Given the description of an element on the screen output the (x, y) to click on. 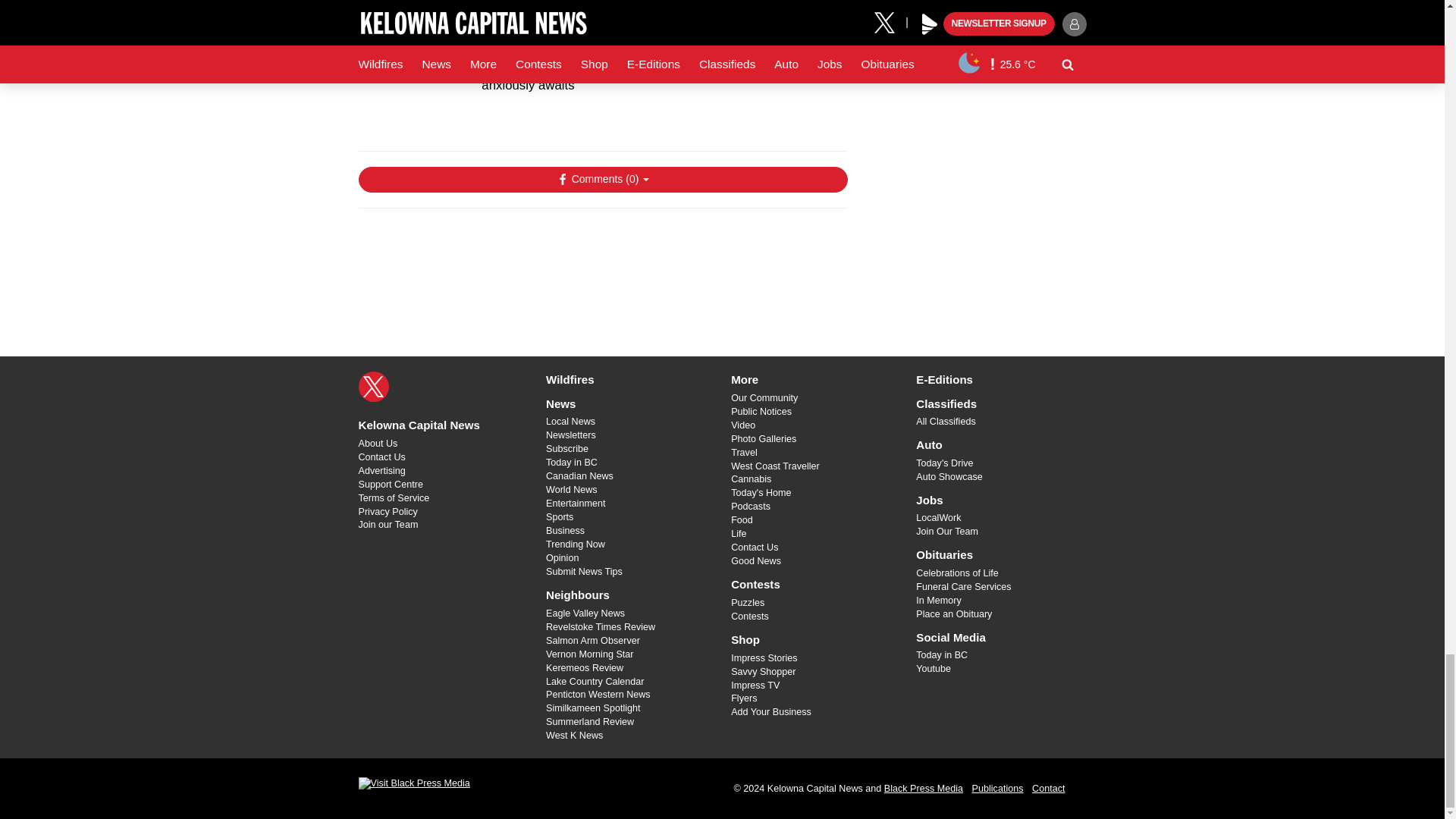
Show Comments (602, 179)
X (373, 386)
